Given the description of an element on the screen output the (x, y) to click on. 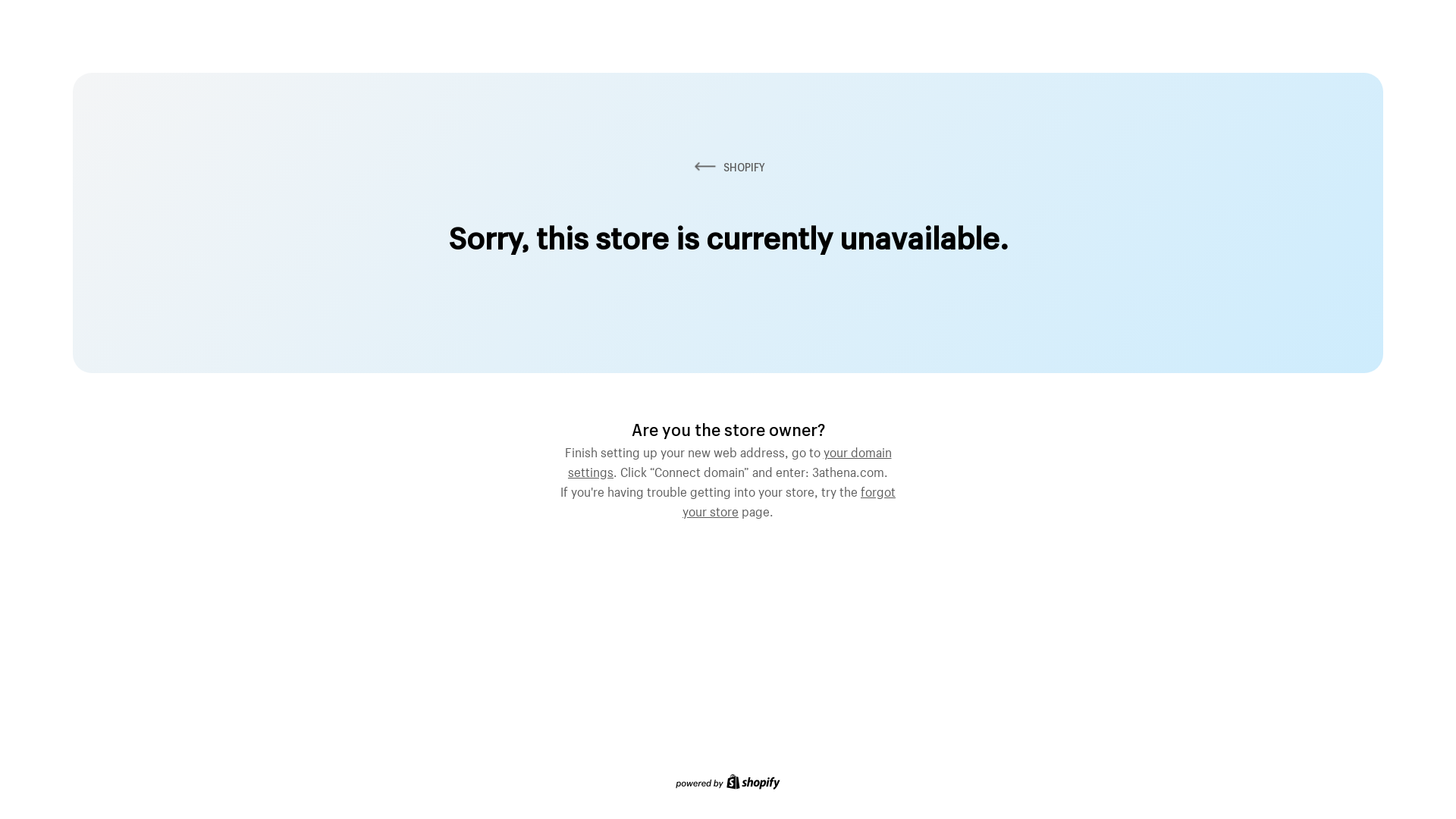
SHOPIFY Element type: text (727, 167)
forgot your store Element type: text (788, 499)
your domain settings Element type: text (729, 460)
